Given the description of an element on the screen output the (x, y) to click on. 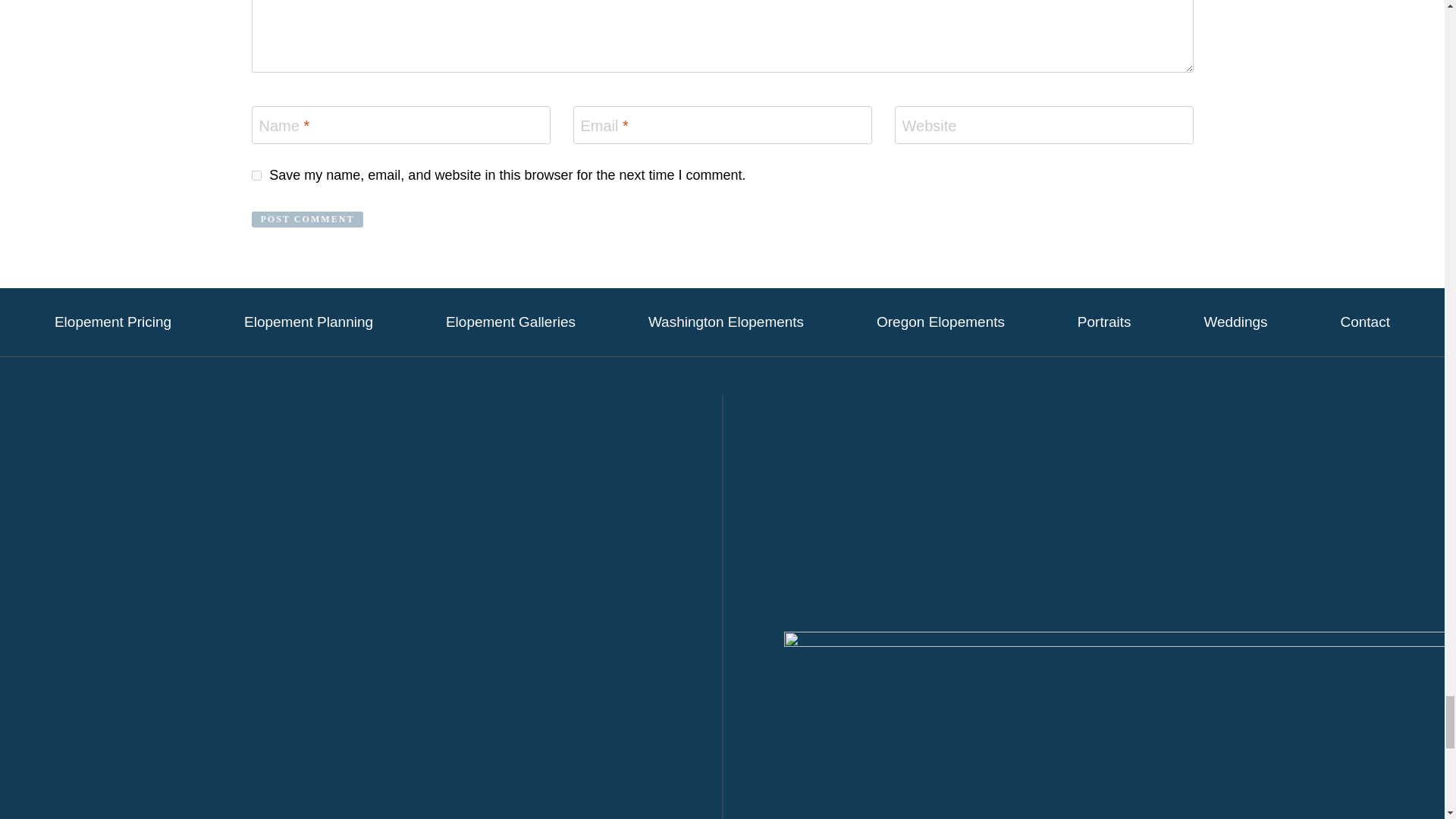
yes (256, 175)
Post Comment (307, 219)
Post Comment (307, 219)
